Given the description of an element on the screen output the (x, y) to click on. 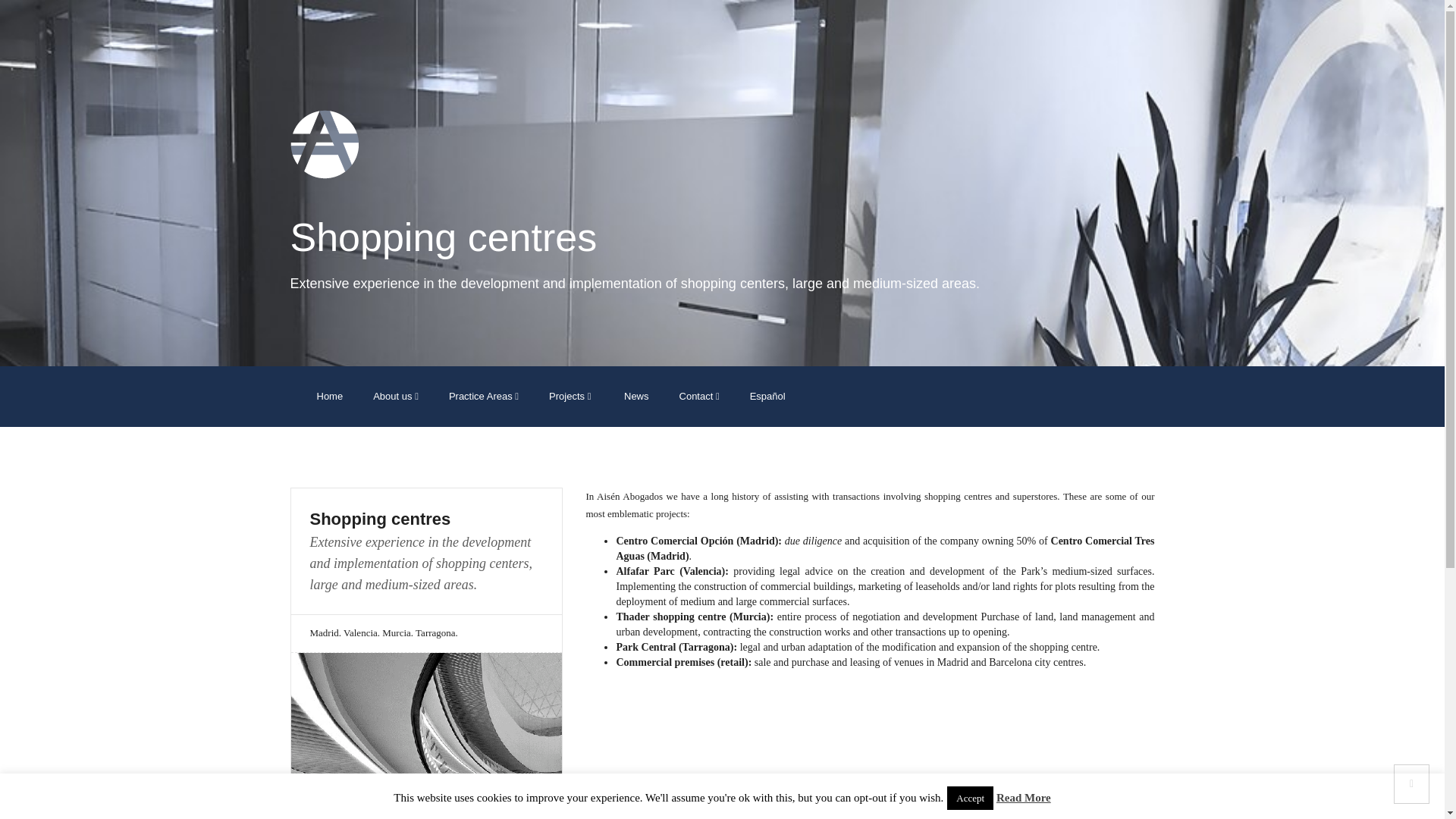
Practice Areas (483, 396)
About us (395, 396)
Practice Areas (483, 396)
Home (329, 396)
Shopping centres (425, 518)
Contact (699, 396)
About us (395, 396)
Read More (1023, 797)
Home (329, 396)
 News (634, 396)
Projects (569, 396)
Accept (969, 797)
